Given the description of an element on the screen output the (x, y) to click on. 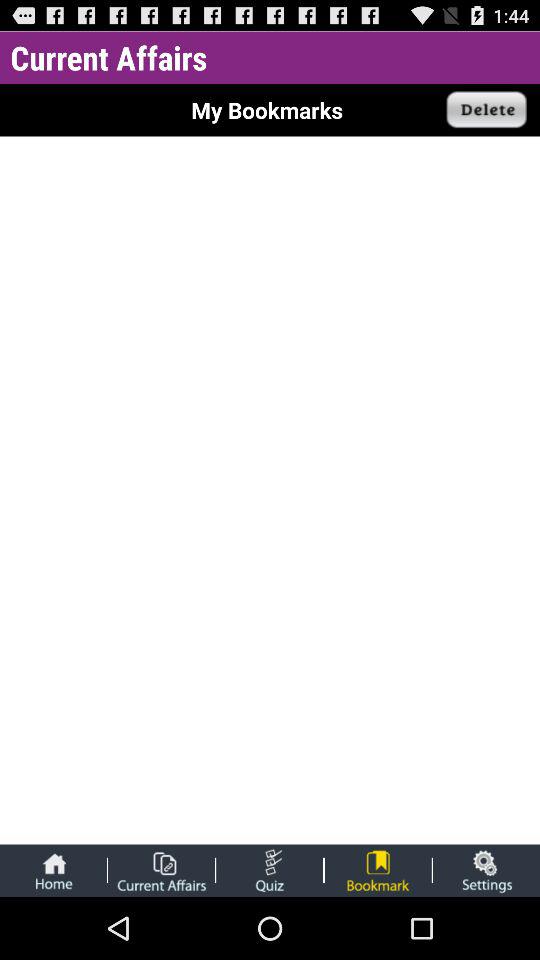
press the icon at the center (270, 493)
